Given the description of an element on the screen output the (x, y) to click on. 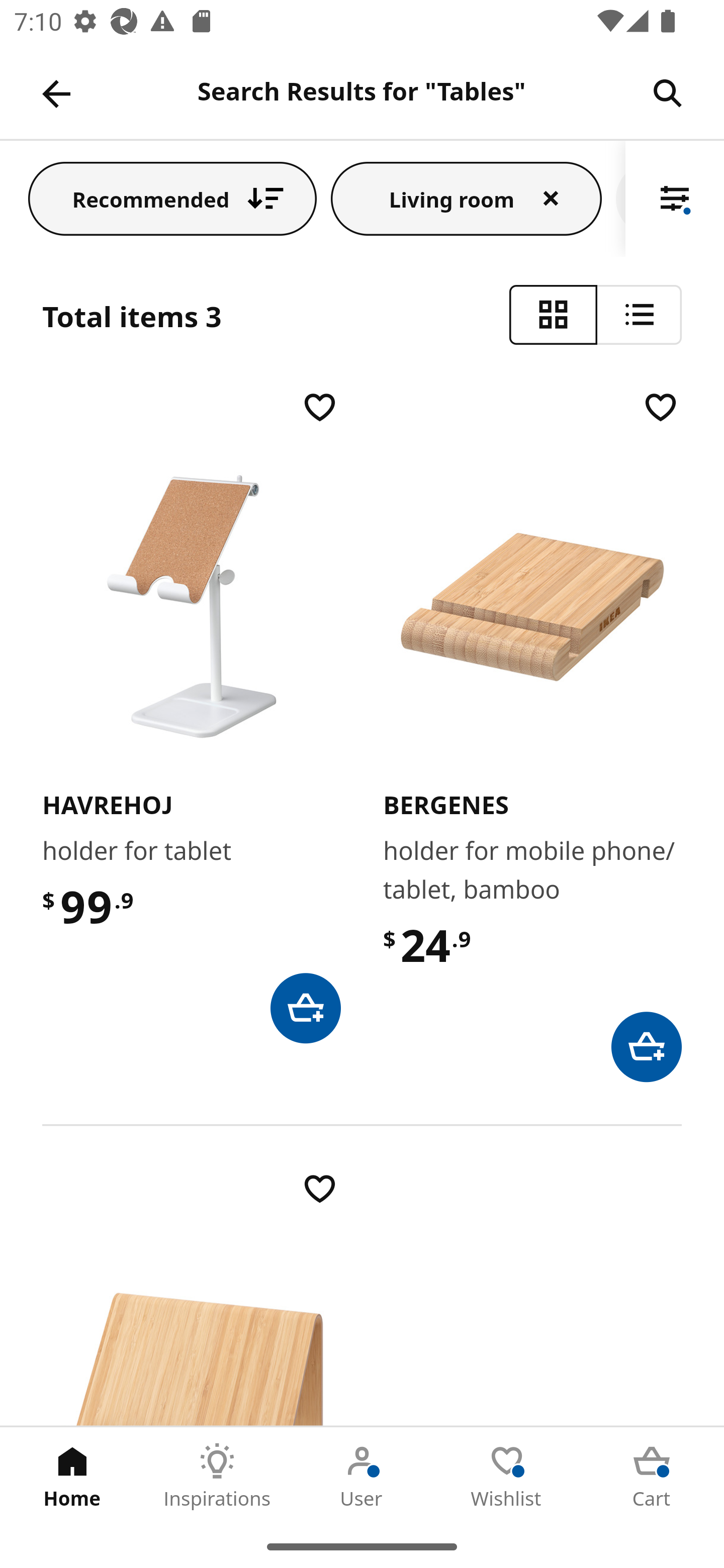
Recommended (172, 198)
Living room (465, 198)
​H​A​V​R​E​H​O​J​
holder for tablet
$
99
.9 (191, 714)
Home
Tab 1 of 5 (72, 1476)
Inspirations
Tab 2 of 5 (216, 1476)
User
Tab 3 of 5 (361, 1476)
Wishlist
Tab 4 of 5 (506, 1476)
Cart
Tab 5 of 5 (651, 1476)
